Given the description of an element on the screen output the (x, y) to click on. 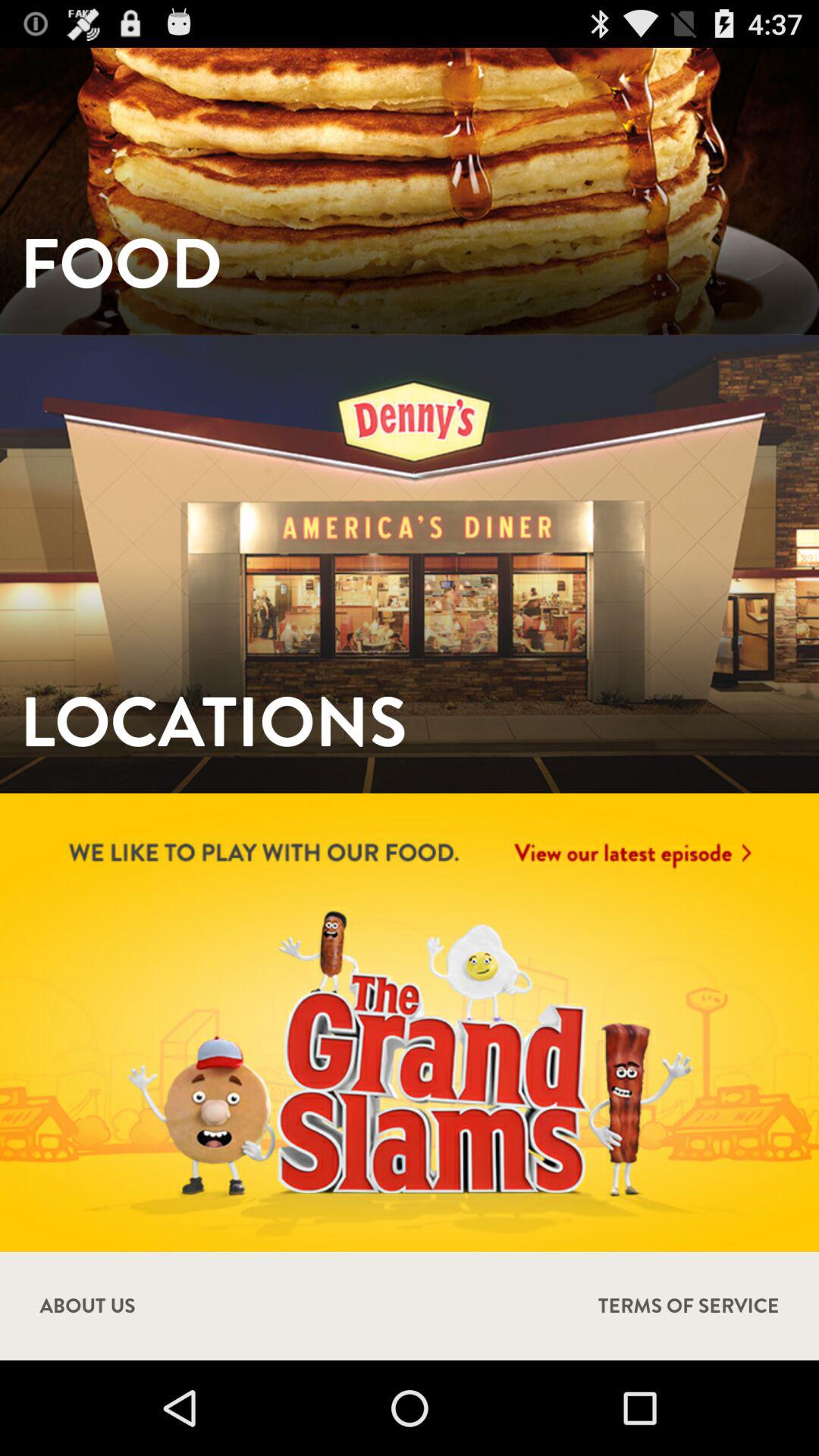
open the about us at the bottom left corner (87, 1305)
